Given the description of an element on the screen output the (x, y) to click on. 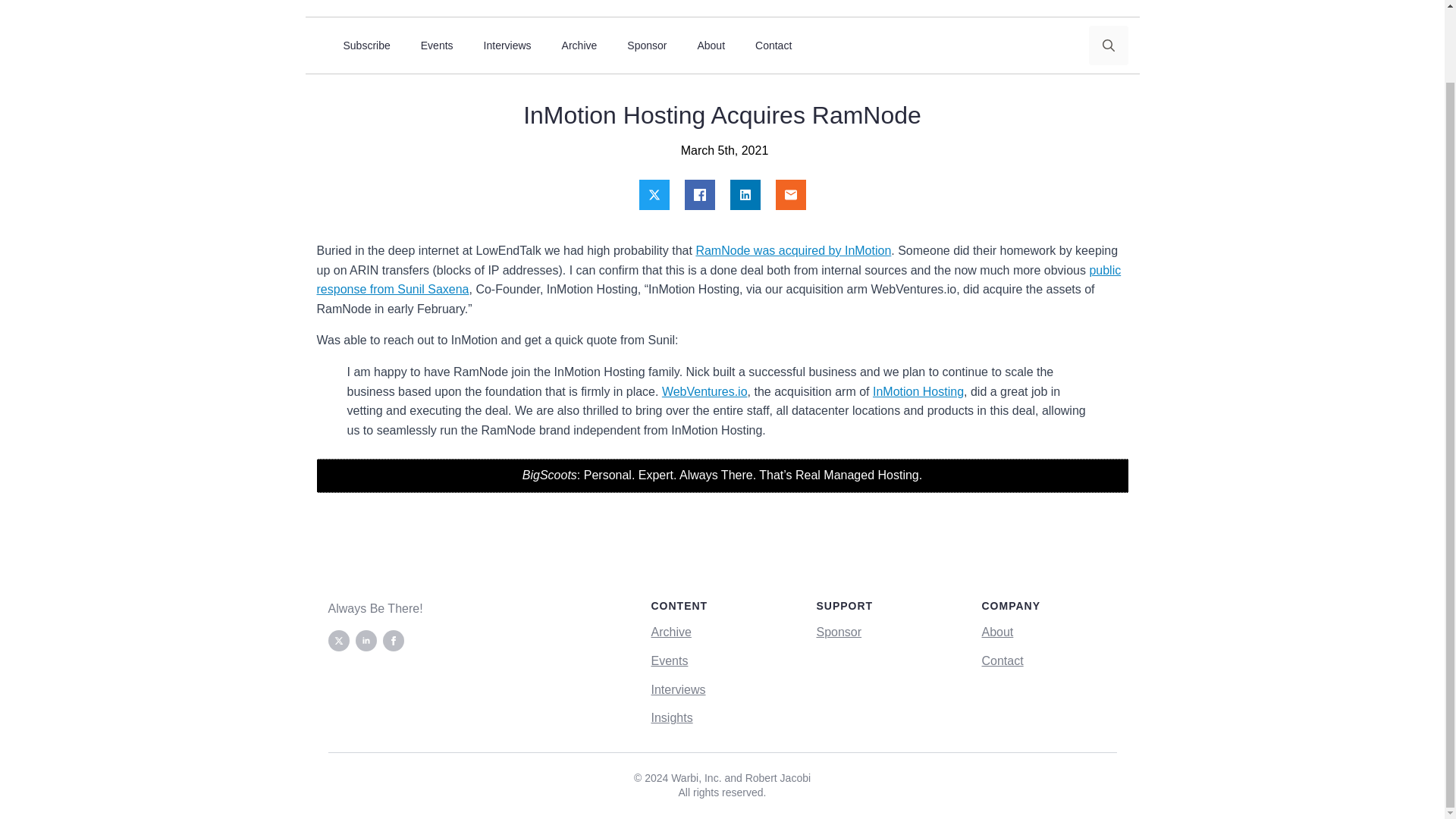
Insights (671, 718)
WebVentures.io (705, 391)
Archive (670, 632)
Subscribe (365, 45)
public response from Sunil Saxena (719, 279)
Events (668, 660)
Sponsor (838, 632)
Interviews (677, 689)
Events (437, 45)
Contact (772, 45)
